Given the description of an element on the screen output the (x, y) to click on. 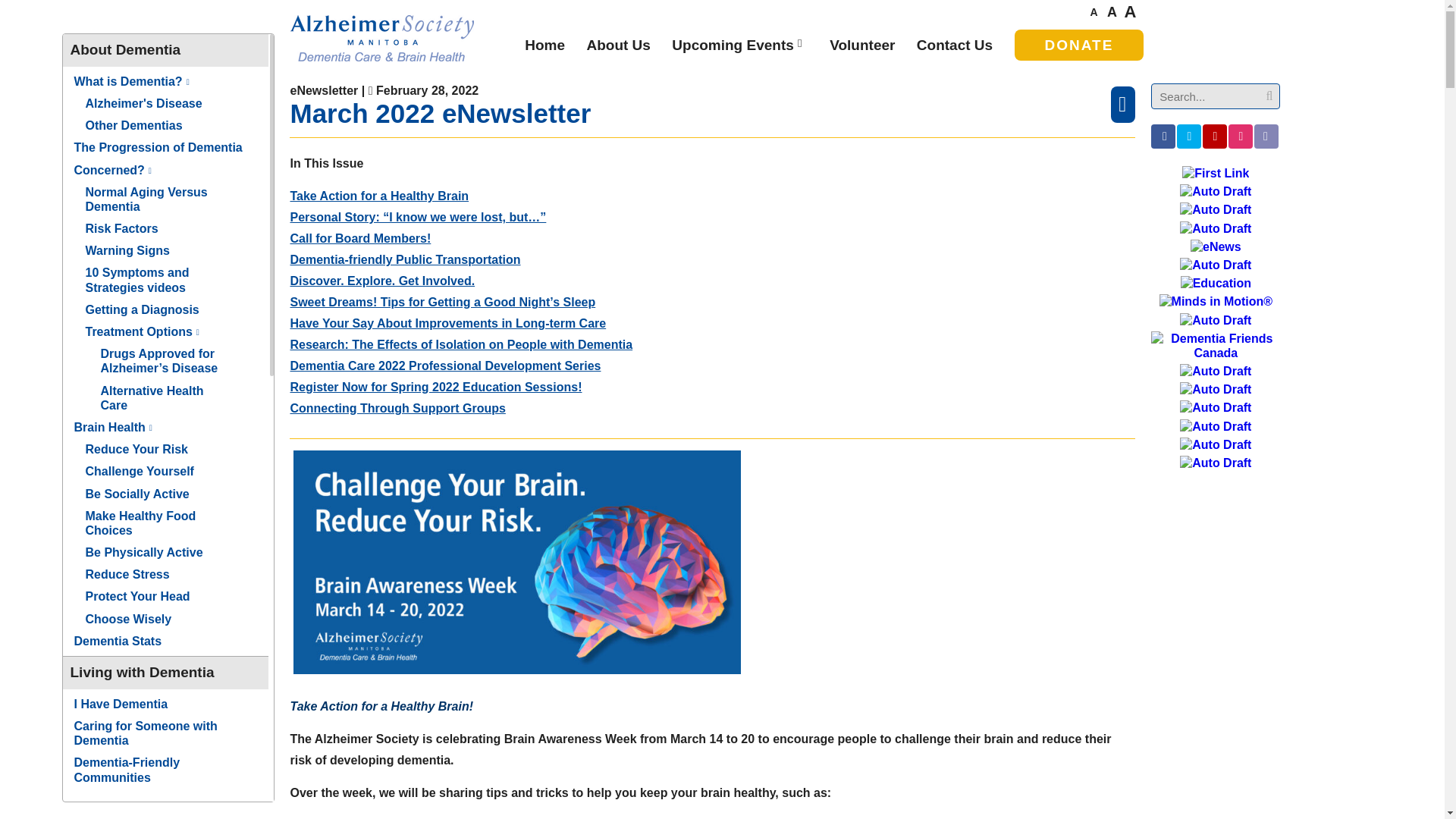
A (1093, 13)
A (1129, 13)
A (1111, 13)
